Given the description of an element on the screen output the (x, y) to click on. 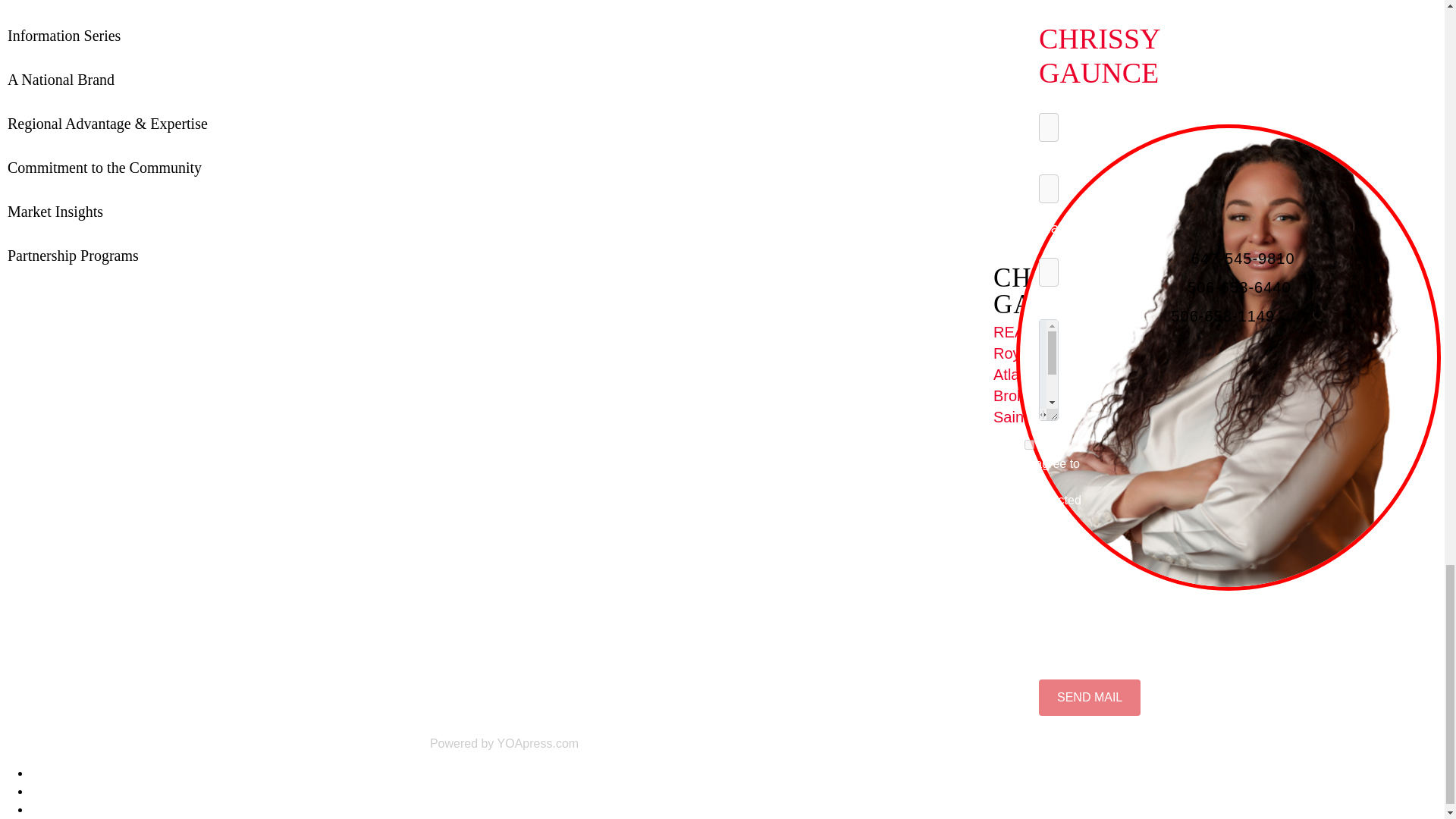
Royal LePgae Atantic - Go Beyond (1232, 430)
yes (1029, 444)
Send mail (1089, 697)
